Given the description of an element on the screen output the (x, y) to click on. 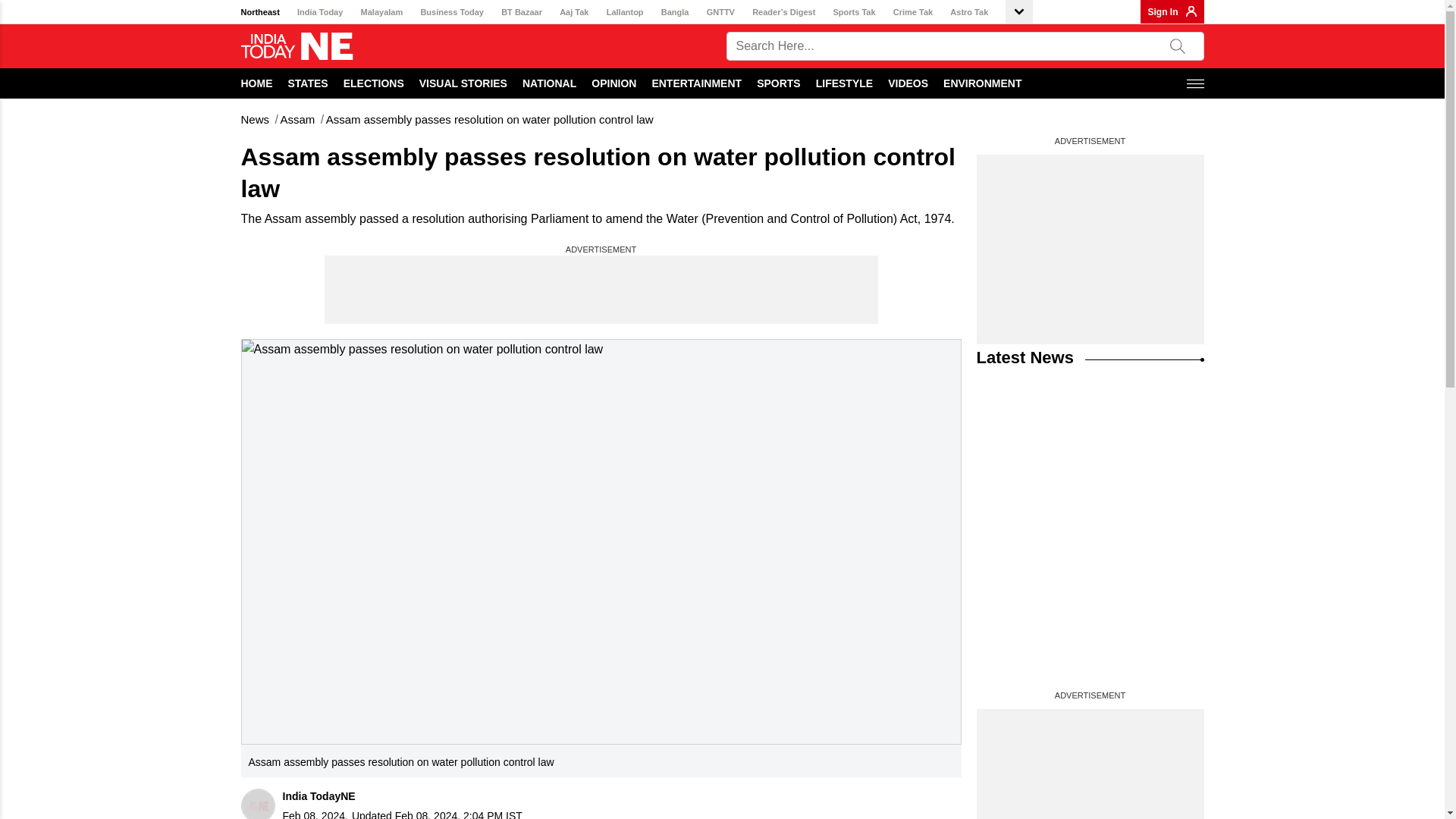
Crime Tak (913, 12)
NATIONAL (549, 82)
Crime Tak (913, 12)
Lallantop (625, 12)
Astro Tak (969, 12)
GNTTV (720, 12)
ENTERTAINMENT (695, 82)
Sports Tak (854, 12)
India Today (319, 12)
Northeast (260, 12)
BT Bazaar (520, 12)
Aaj Tak (573, 12)
India Today (319, 12)
OPINION (613, 82)
Malayalam (382, 12)
